Given the description of an element on the screen output the (x, y) to click on. 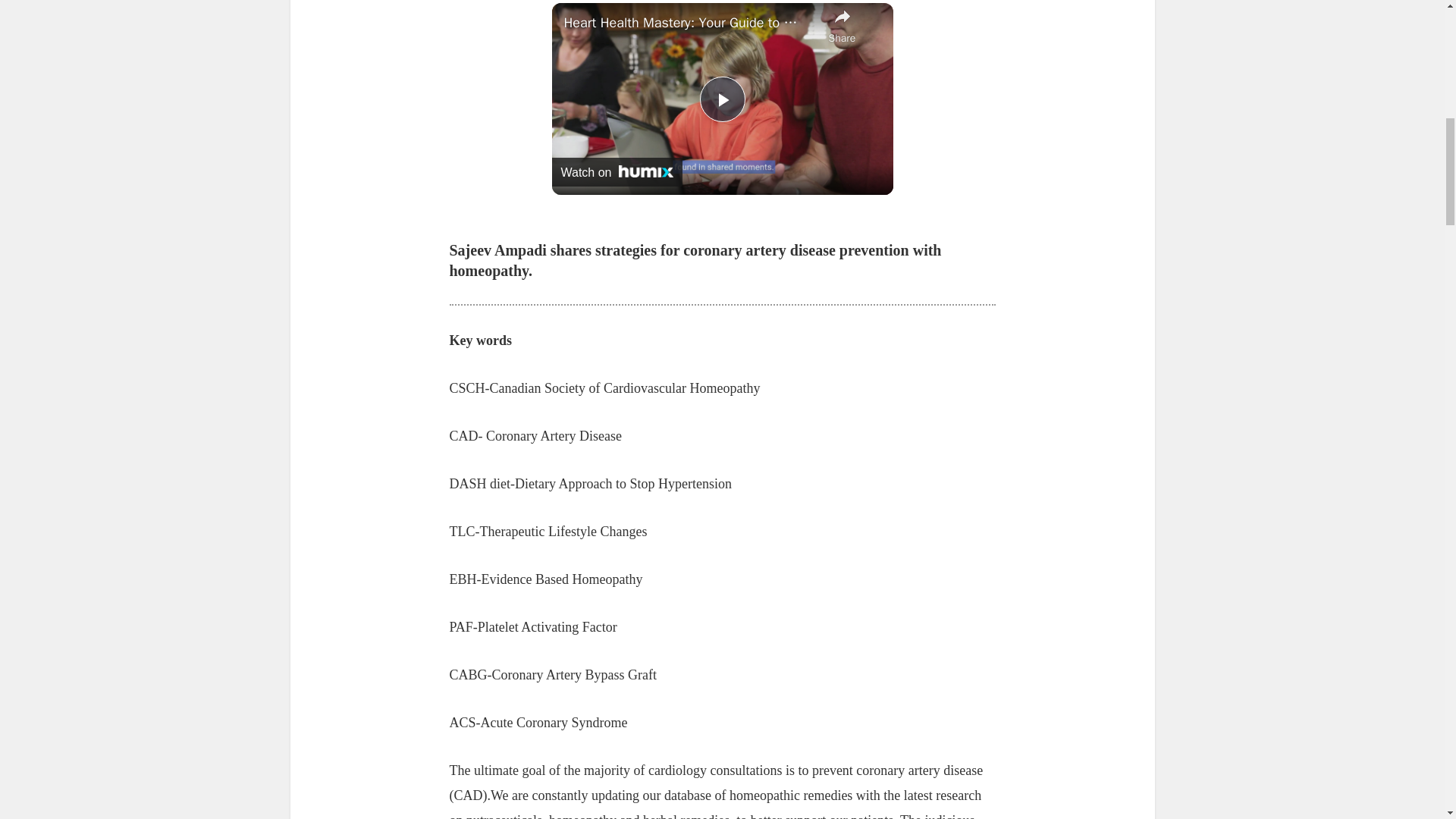
Play Video (721, 99)
share (842, 25)
